Given the description of an element on the screen output the (x, y) to click on. 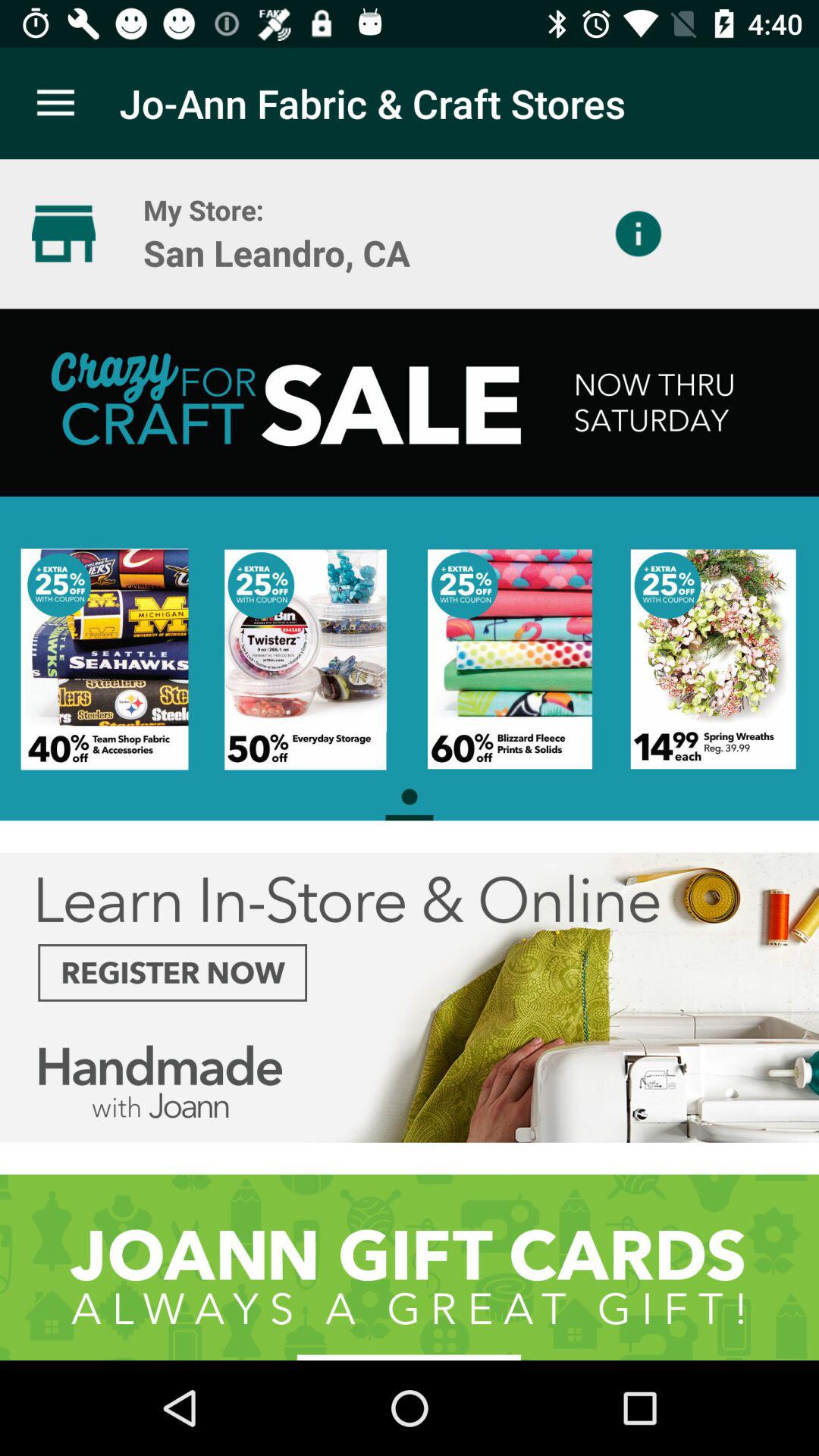
select icon to the right of the san leandro, ca item (638, 233)
